Given the description of an element on the screen output the (x, y) to click on. 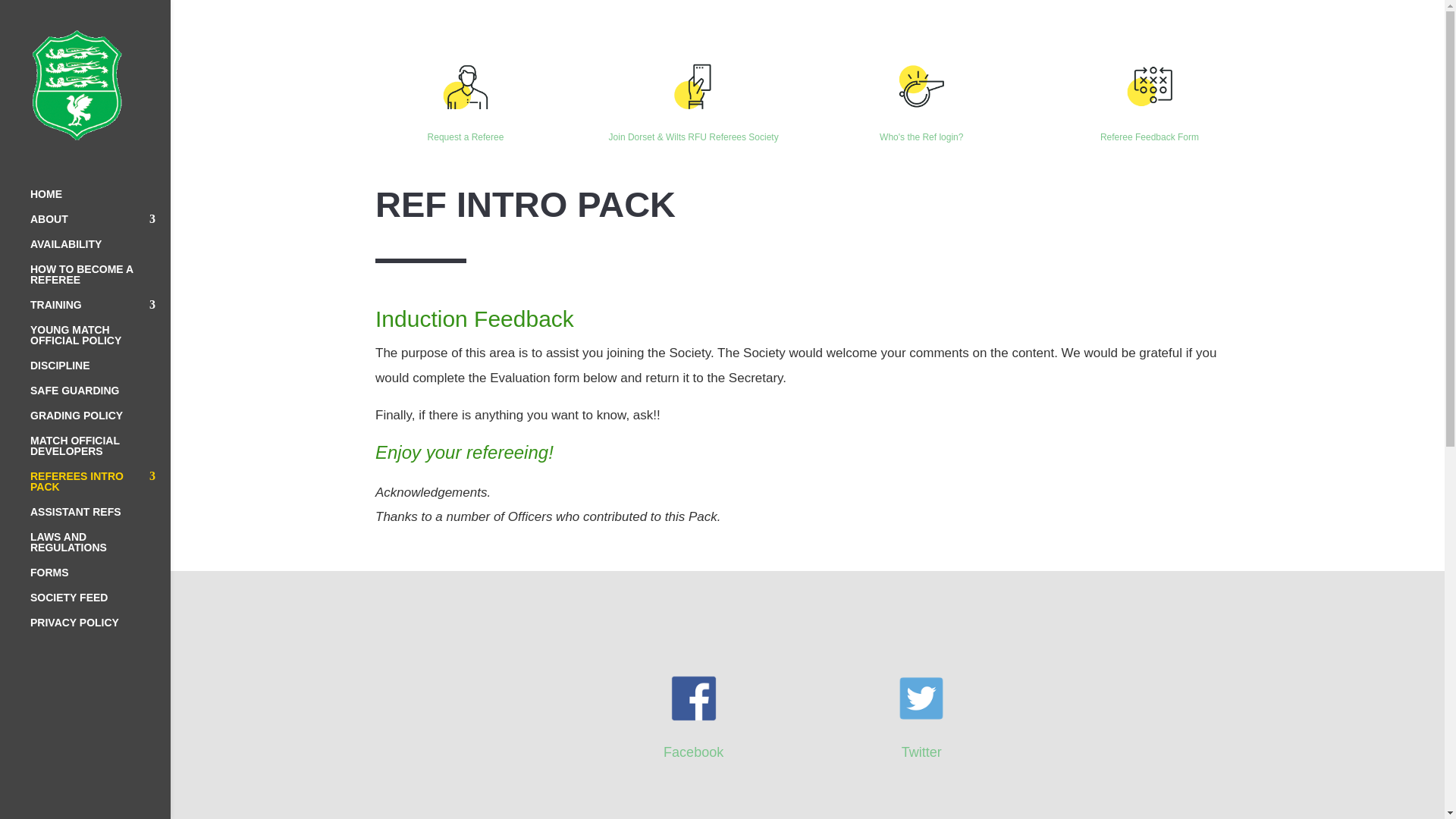
FORMS (100, 579)
PRIVACY POLICY (100, 629)
YOUNG MATCH OFFICIAL POLICY (100, 342)
REFEREES INTRO PACK (100, 488)
ABOUT (100, 226)
LAWS AND REGULATIONS (100, 549)
SAFE GUARDING (100, 397)
AVAILABILITY (100, 251)
DISCIPLINE (100, 372)
TRAINING (100, 311)
HOME (100, 201)
ASSISTANT REFS (100, 518)
MATCH OFFICIAL DEVELOPERS (100, 452)
HOW TO BECOME A REFEREE (100, 281)
GRADING POLICY (100, 422)
